Given the description of an element on the screen output the (x, y) to click on. 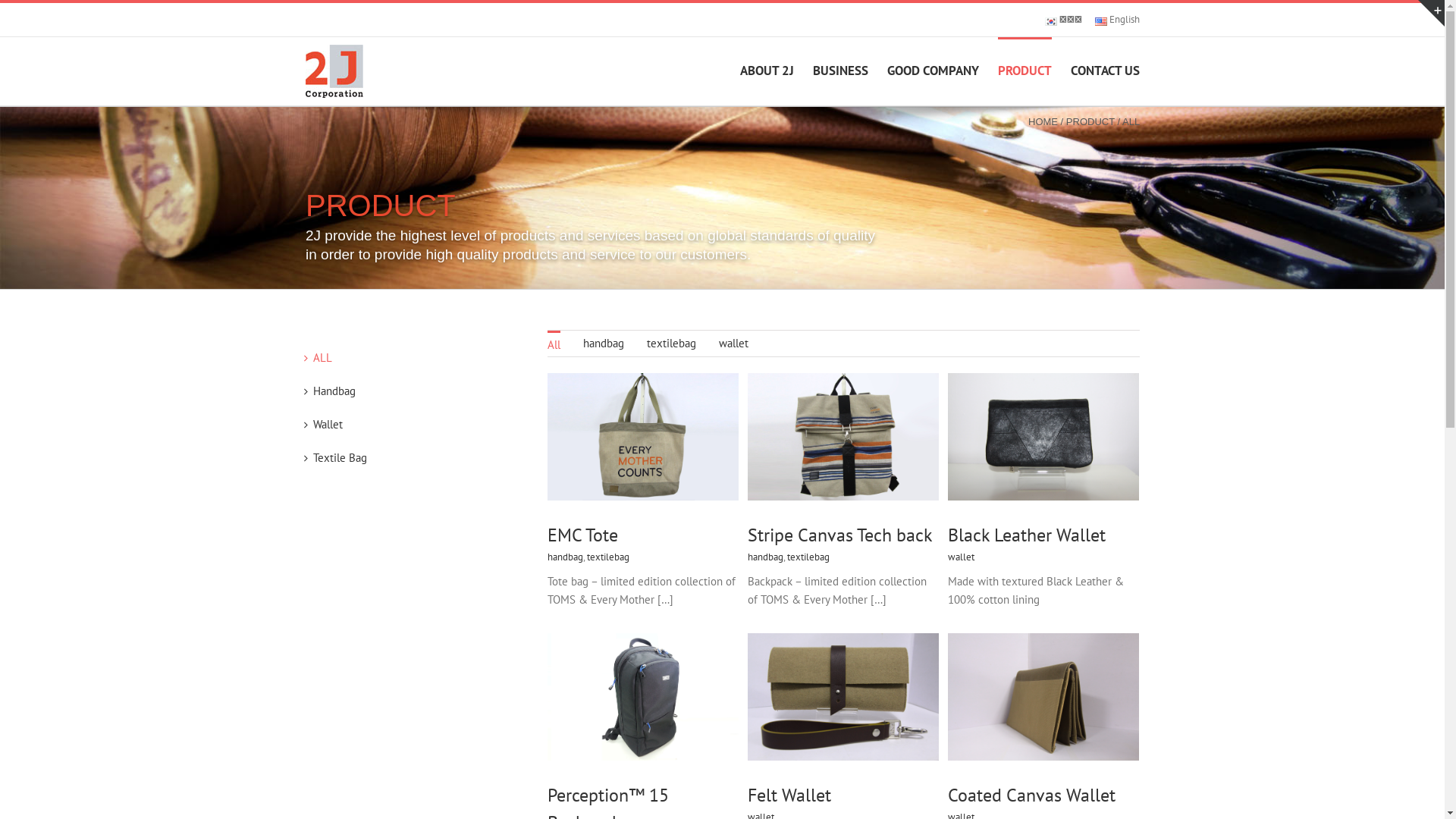
Black Leather Wallet Element type: text (1026, 534)
ABOUT 2J Element type: text (766, 69)
BUSINESS Element type: text (840, 69)
Textile Bag Element type: text (339, 457)
wallet Element type: text (960, 556)
textilebag Element type: text (808, 556)
GOOD COMPANY Element type: text (933, 69)
PRODUCT Element type: text (1024, 69)
textilebag Element type: text (670, 343)
Handbag Element type: text (333, 390)
handbag Element type: text (602, 343)
handbag Element type: text (765, 556)
handbag Element type: text (565, 556)
Felt Wallet Element type: text (789, 794)
All Element type: text (553, 343)
CONTACT US Element type: text (1104, 69)
ALL Element type: text (321, 357)
English Element type: hover (1101, 21)
wallet Element type: text (733, 343)
 English Element type: text (1117, 18)
Coated Canvas Wallet Element type: text (1031, 794)
EMC Tote Element type: text (582, 534)
Stripe Canvas Tech back Element type: text (839, 534)
Wallet Element type: text (327, 424)
textilebag Element type: text (607, 556)
